Given the description of an element on the screen output the (x, y) to click on. 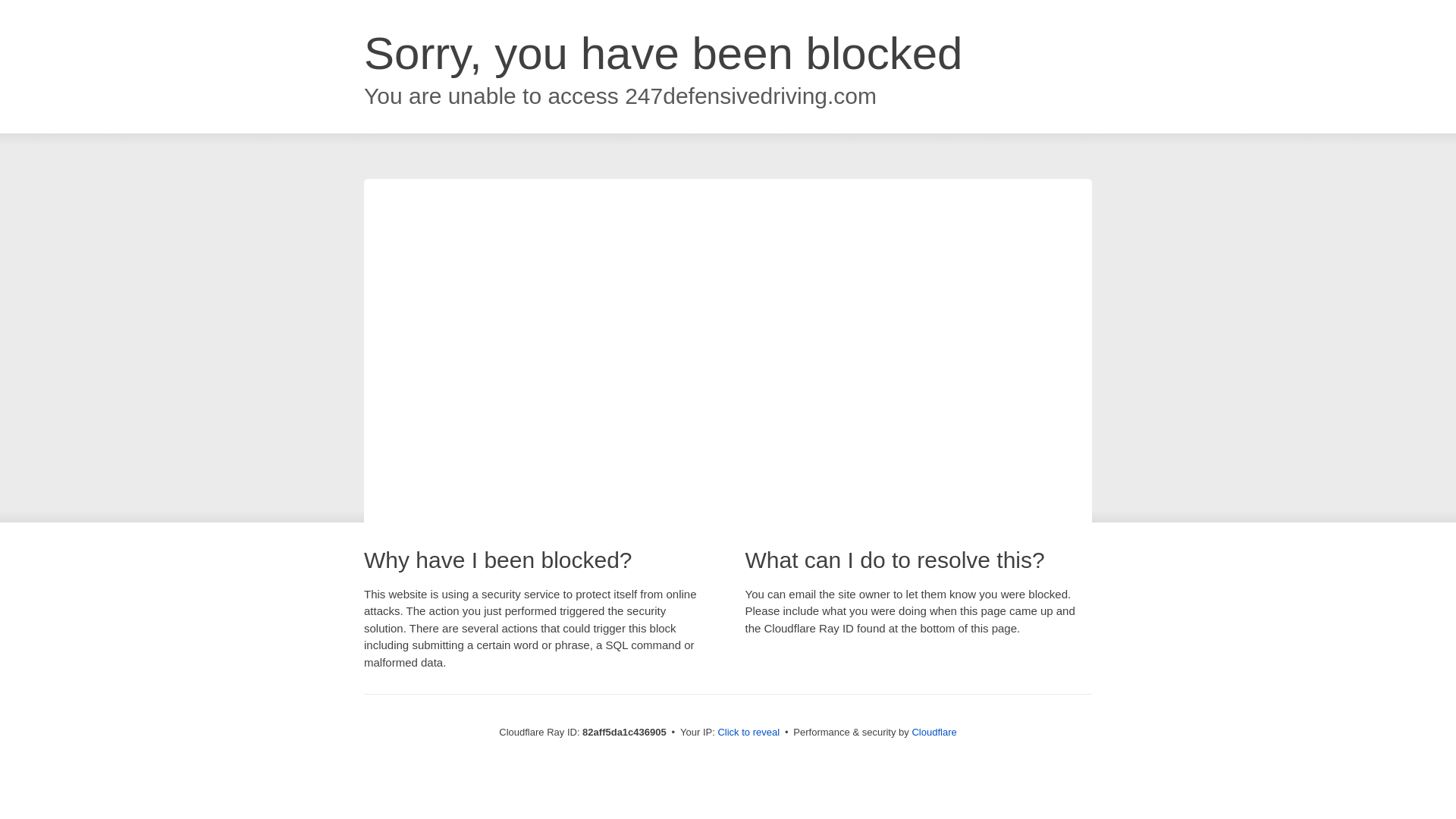
Cloudflare Element type: text (933, 731)
Click to reveal Element type: text (748, 732)
